Given the description of an element on the screen output the (x, y) to click on. 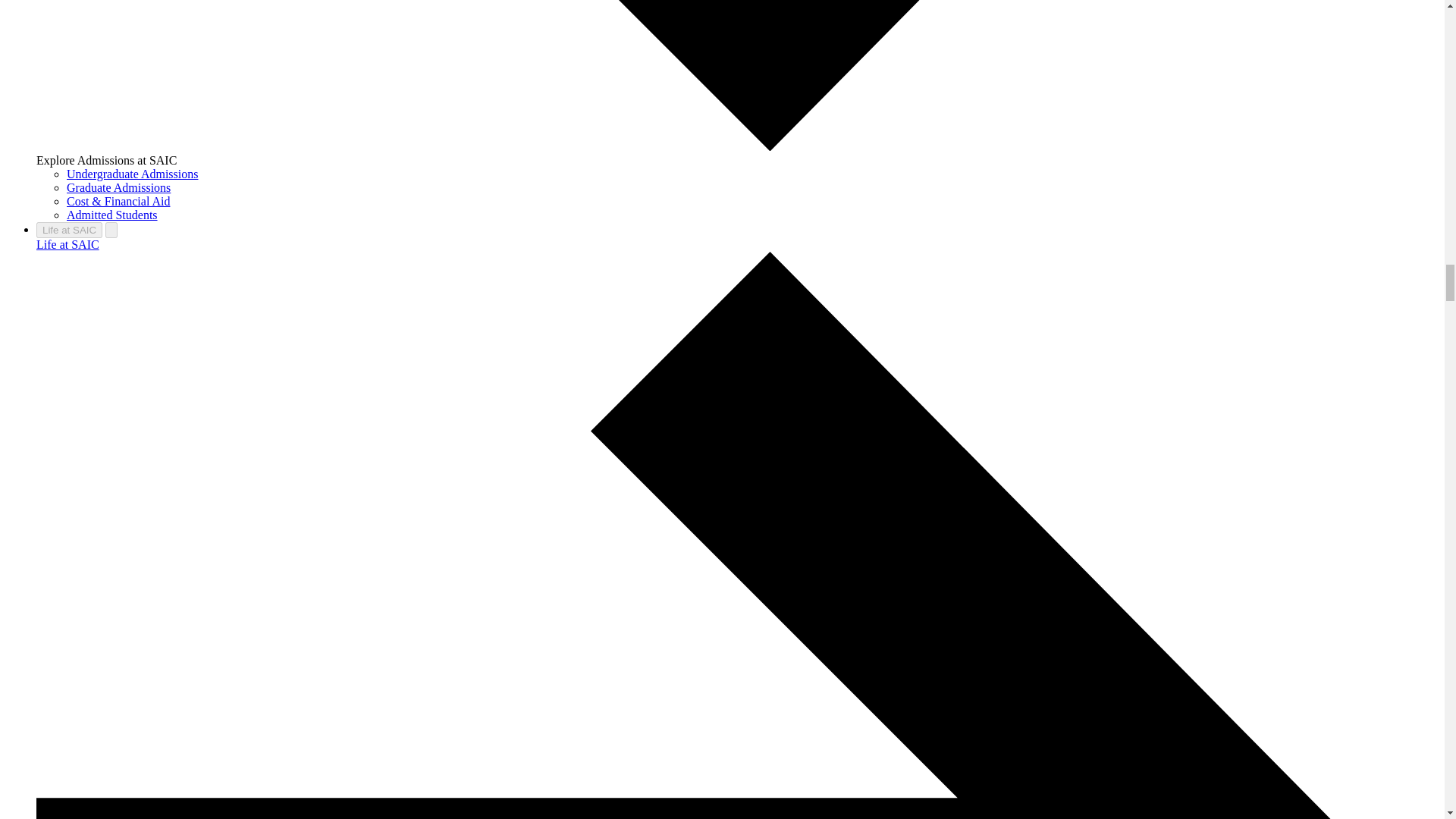
Life at SAIC (68, 229)
Life at SAIC (67, 244)
Graduate Admissions (118, 187)
Admitted Students (111, 214)
Undergraduate Admissions (132, 173)
